Given the description of an element on the screen output the (x, y) to click on. 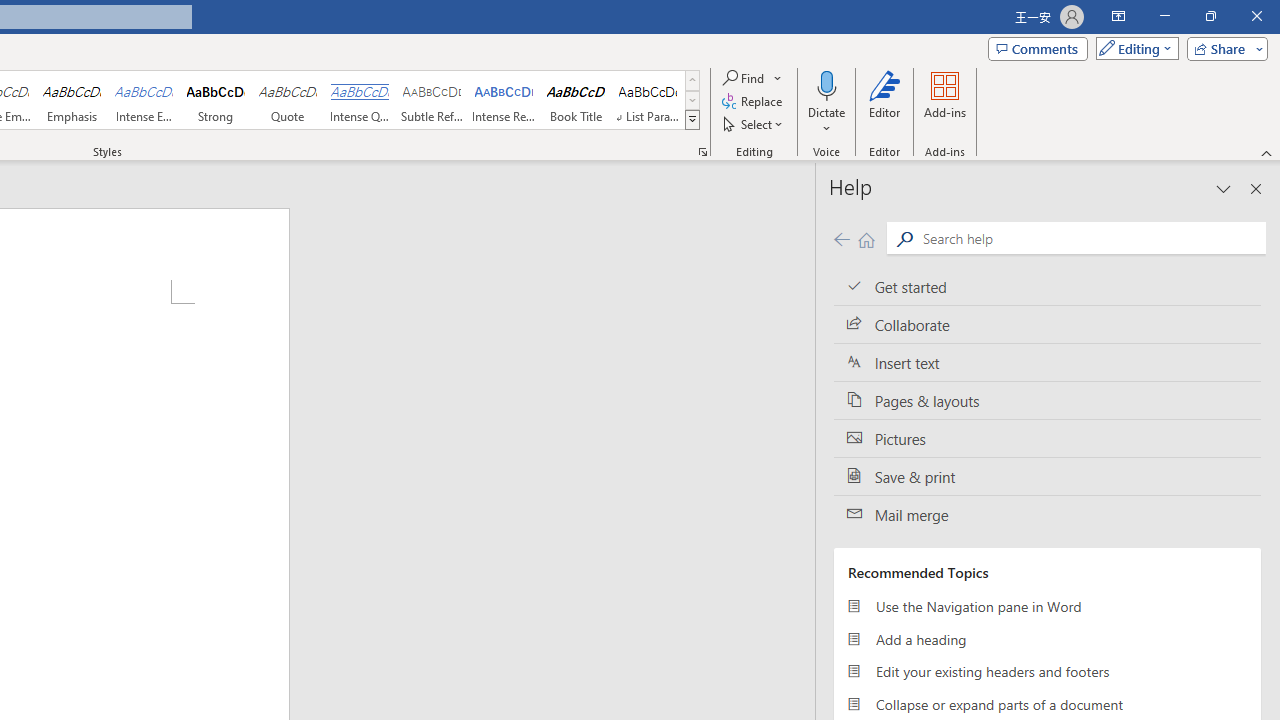
Share (1223, 48)
Restore Down (1210, 16)
Pages & layouts (1047, 400)
Mail merge (1047, 515)
